Given the description of an element on the screen output the (x, y) to click on. 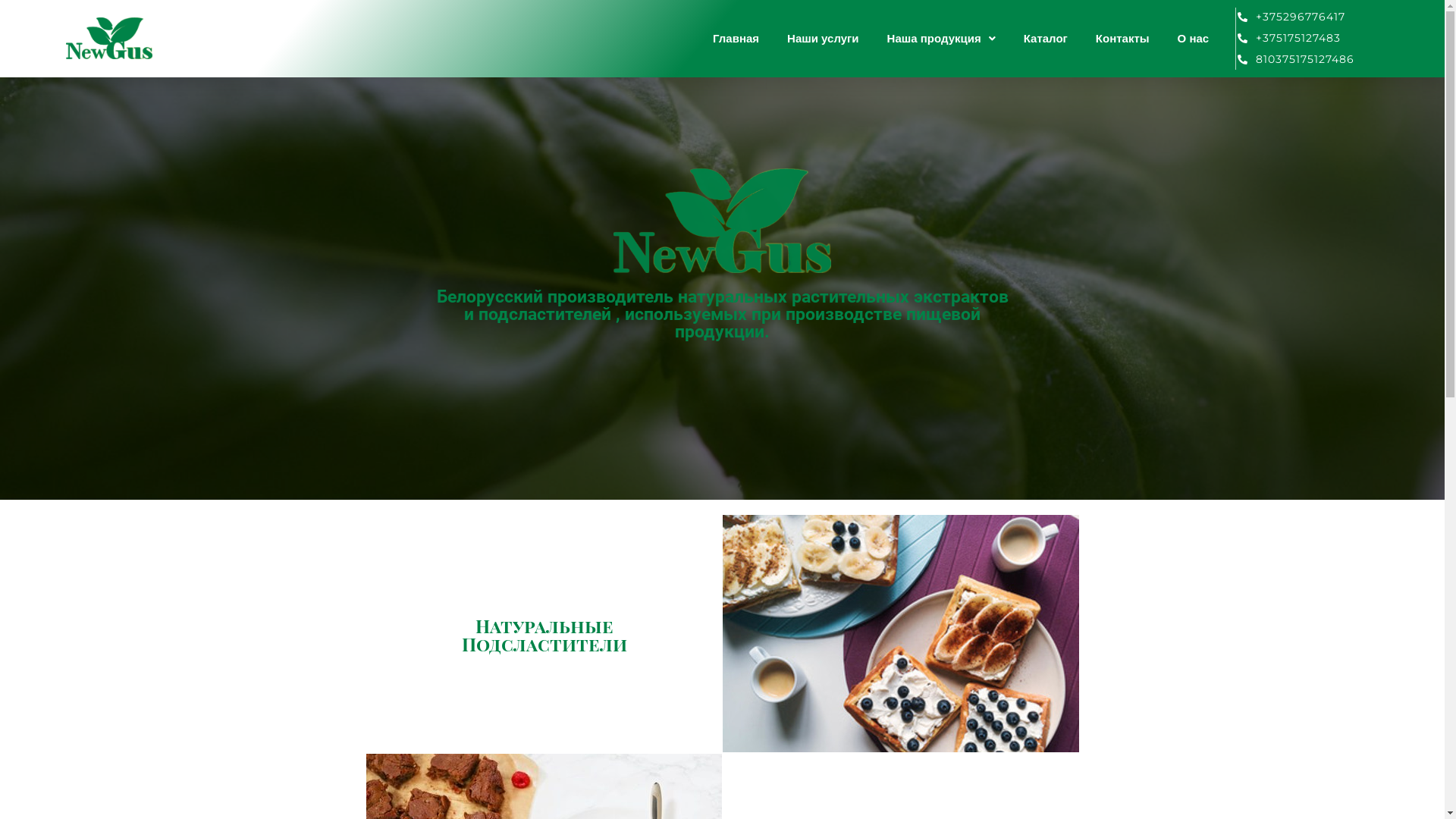
homemade-waffles-with-coffee Element type: hover (899, 633)
